Given the description of an element on the screen output the (x, y) to click on. 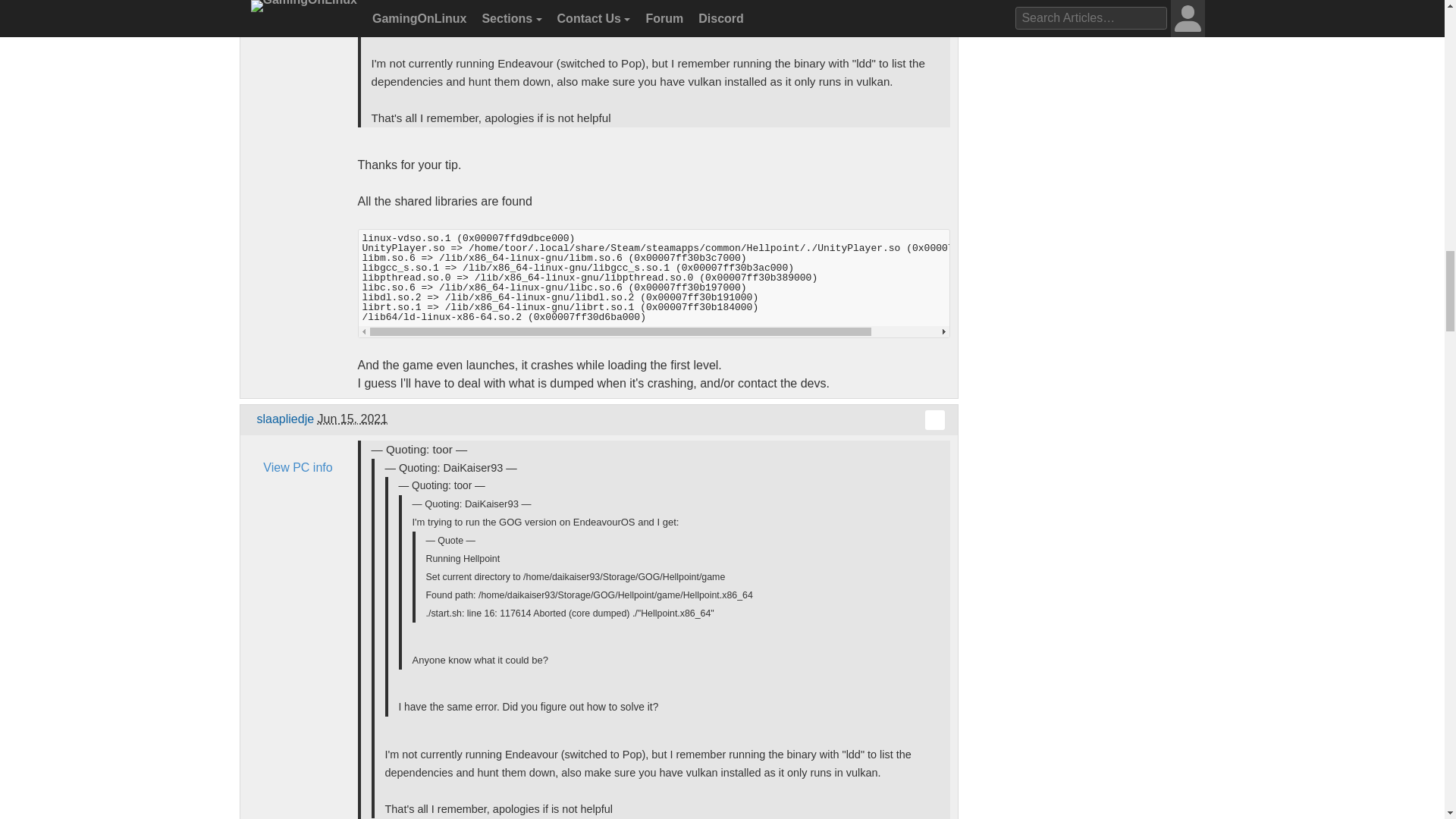
Link to this comment (934, 419)
